Given the description of an element on the screen output the (x, y) to click on. 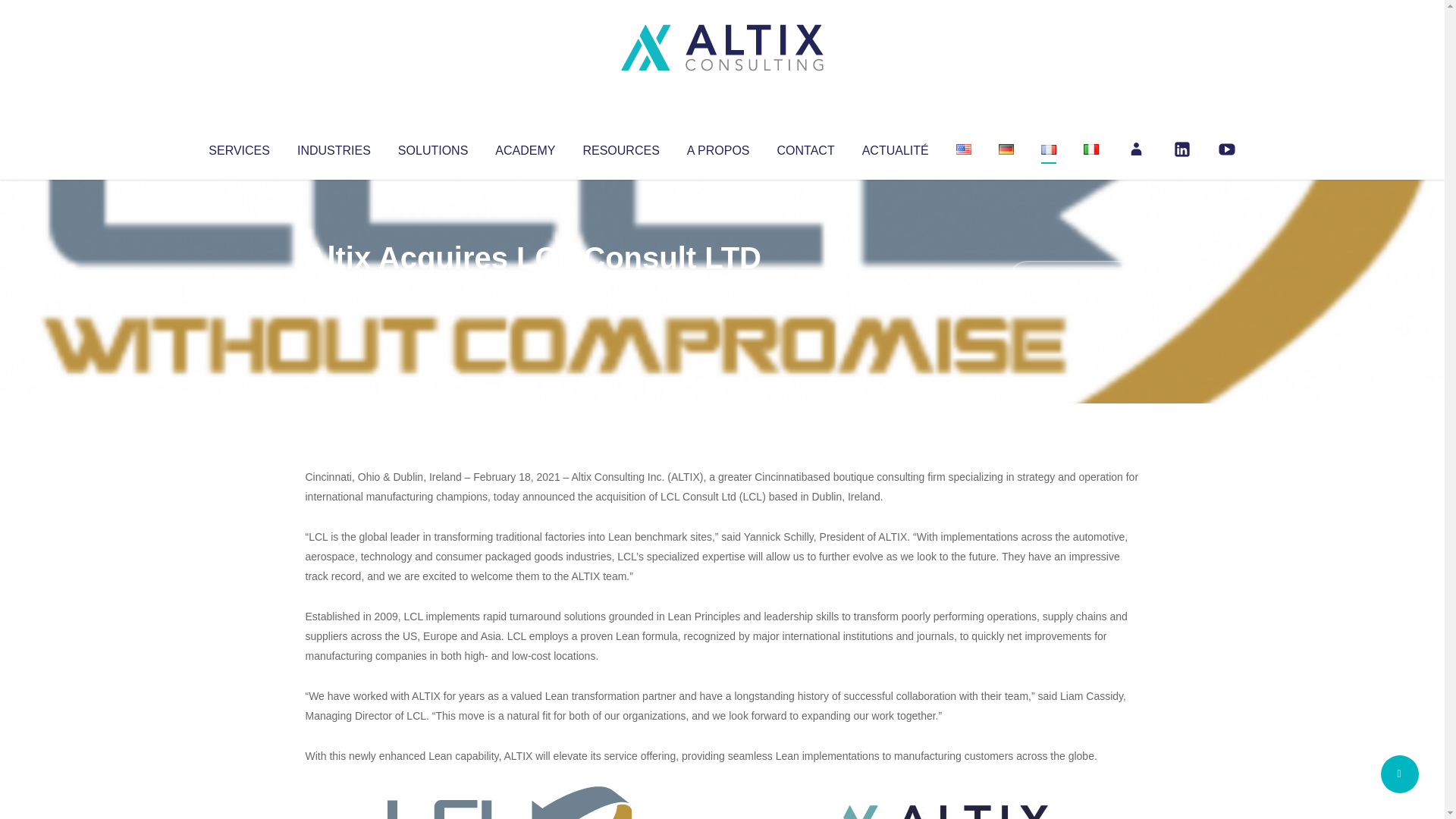
Uncategorized (530, 287)
Altix (333, 287)
No Comments (1073, 278)
INDUSTRIES (334, 146)
SERVICES (238, 146)
RESOURCES (620, 146)
ACADEMY (524, 146)
Articles par Altix (333, 287)
A PROPOS (718, 146)
SOLUTIONS (432, 146)
